Given the description of an element on the screen output the (x, y) to click on. 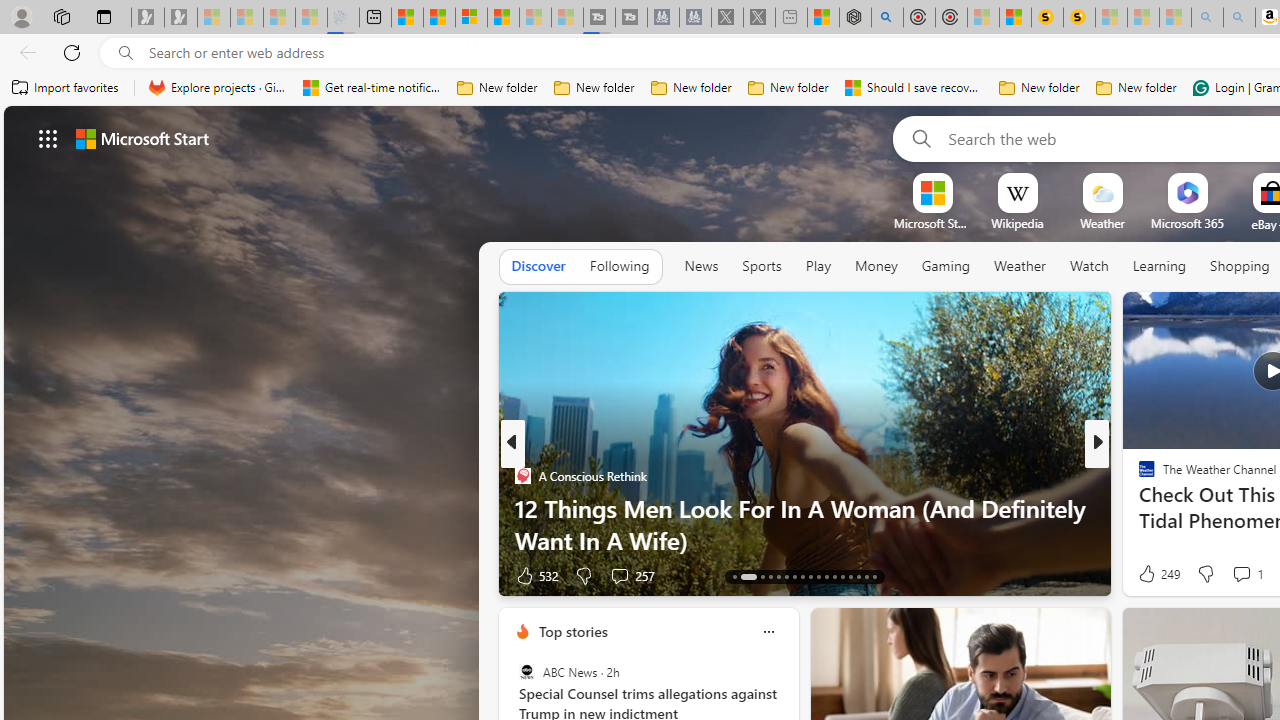
View comments 26 Comment (1234, 575)
AutomationID: waffle (47, 138)
FinanceBuzz (1138, 475)
Top stories (572, 631)
View comments 26 Comment (1244, 574)
